Given the description of an element on the screen output the (x, y) to click on. 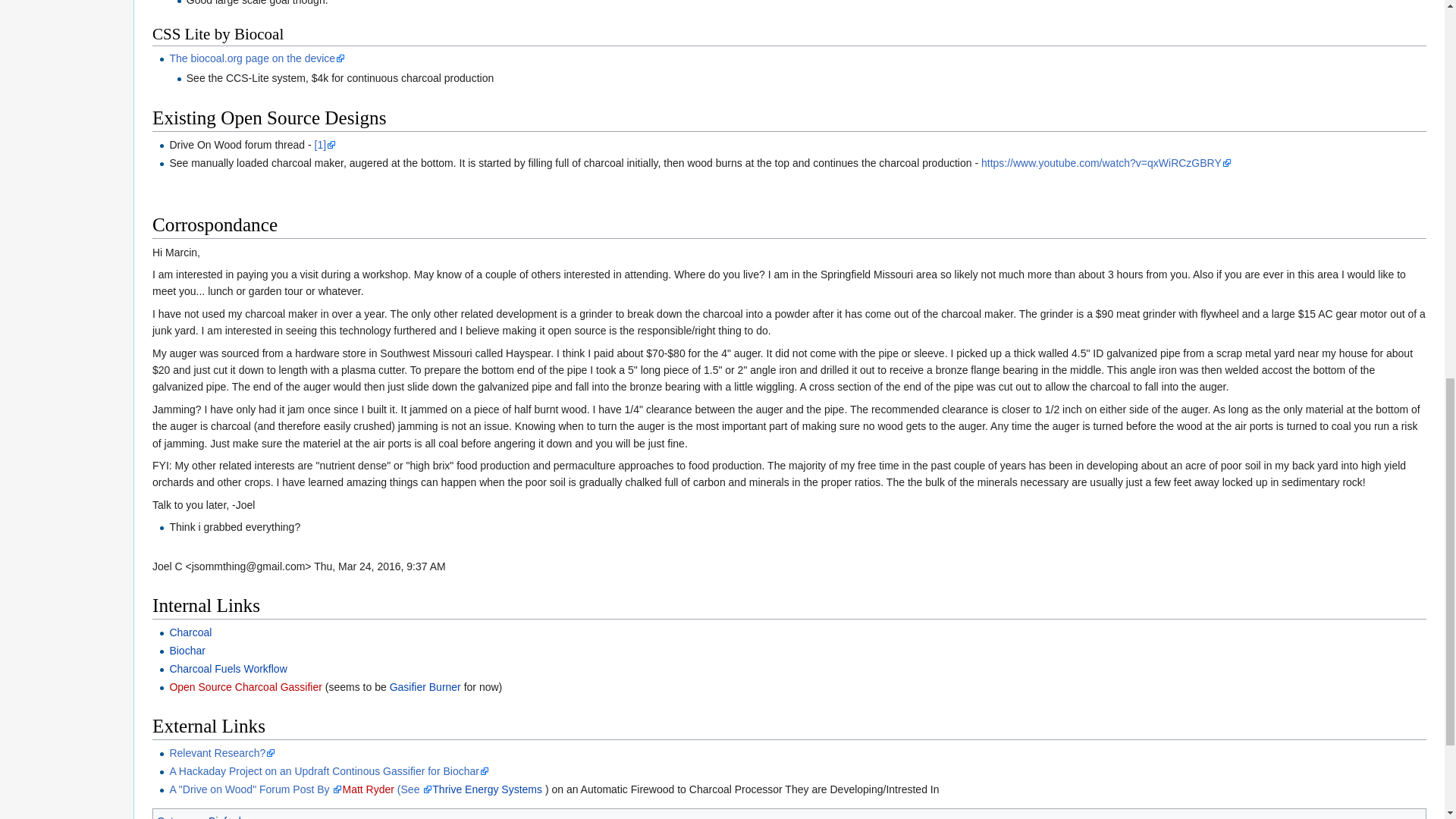
The biocoal.org page on the device (256, 58)
A "Drive on Wood" Forum Post By (255, 788)
Biochar (186, 650)
Charcoal (189, 632)
Gasifier Burner (425, 686)
Charcoal Fuels Workflow (227, 668)
Charcoal Fuels Workflow (227, 668)
Matt Ryder (367, 788)
Biochar (186, 650)
